Given the description of an element on the screen output the (x, y) to click on. 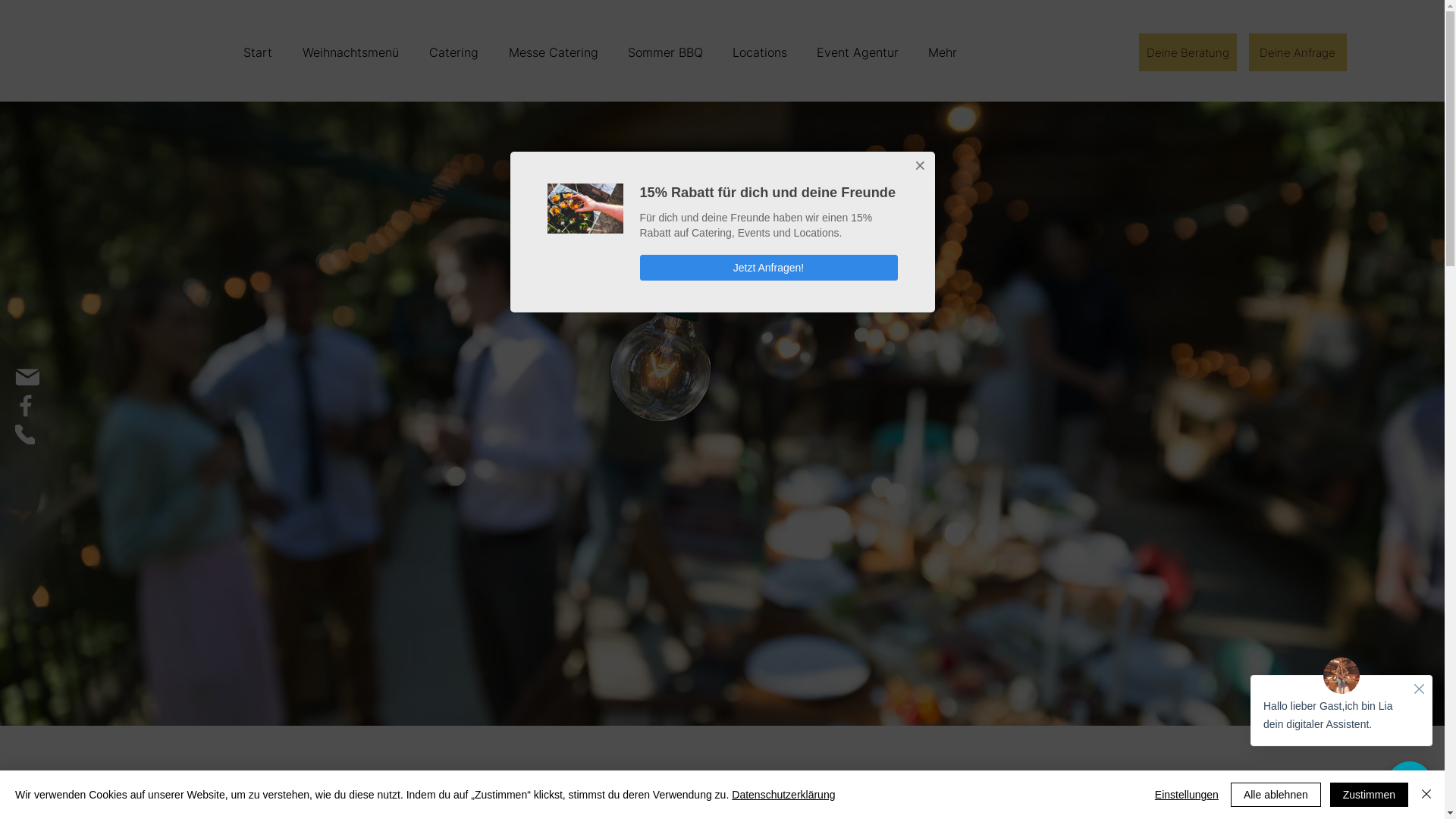
Deine Beratung Element type: text (1187, 52)
TWIPLA (Visitor Analytics) Element type: hover (1442, 4)
Locations Element type: text (759, 52)
Start Element type: text (258, 52)
Sommer BBQ Element type: text (664, 52)
Jetzt Anfragen! Element type: text (768, 267)
Messe Catering Element type: text (551, 52)
Deine Anfrage Element type: text (1297, 52)
Event Agentur Element type: text (856, 52)
Alle ablehnen Element type: text (1275, 794)
Zustimmen Element type: text (1369, 794)
Catering Element type: text (453, 52)
